Given the description of an element on the screen output the (x, y) to click on. 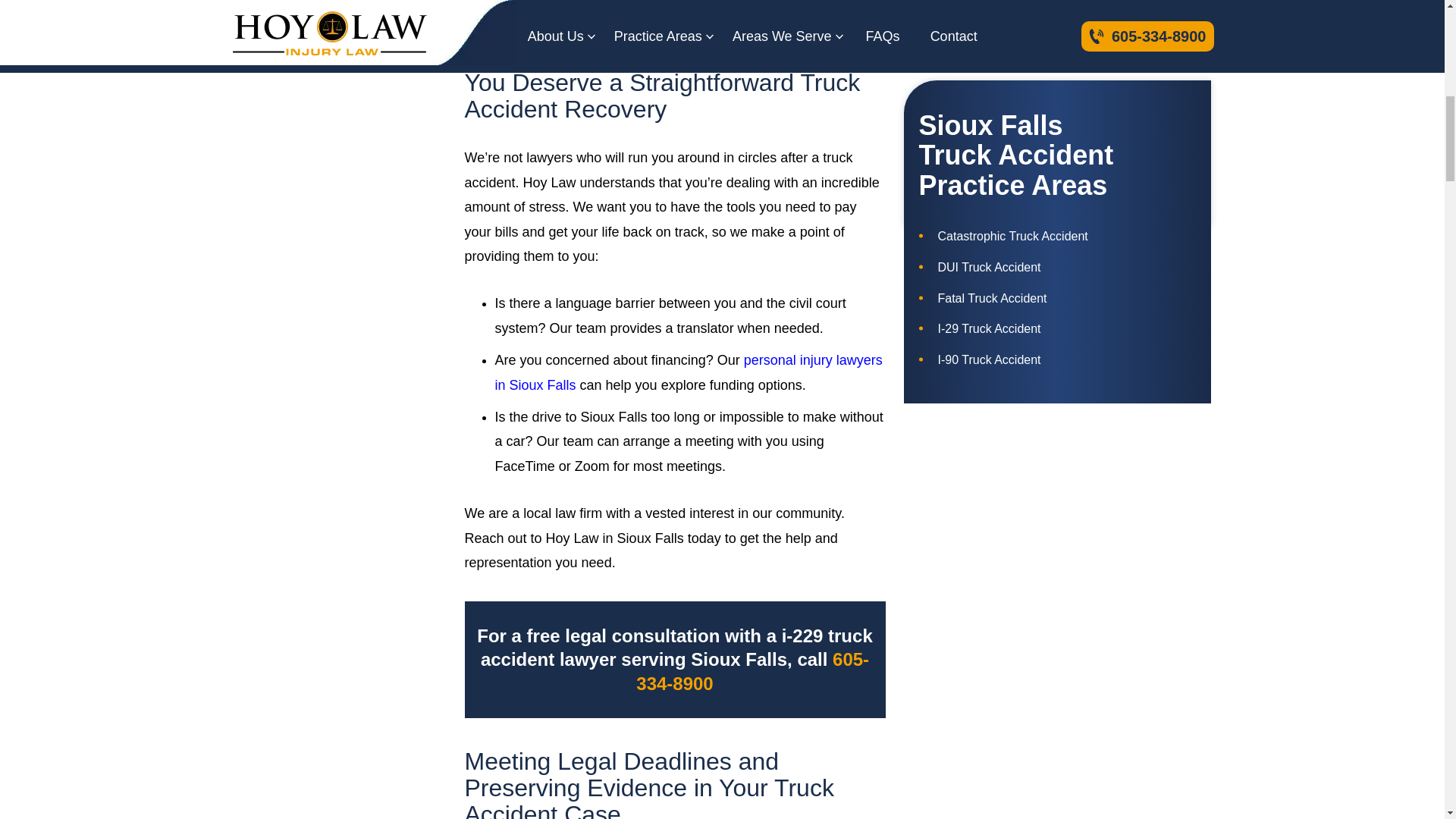
Catastrophic Truck Accident (1057, 236)
DUI Truck Accident (1057, 267)
Get Help Now (1057, 15)
